Given the description of an element on the screen output the (x, y) to click on. 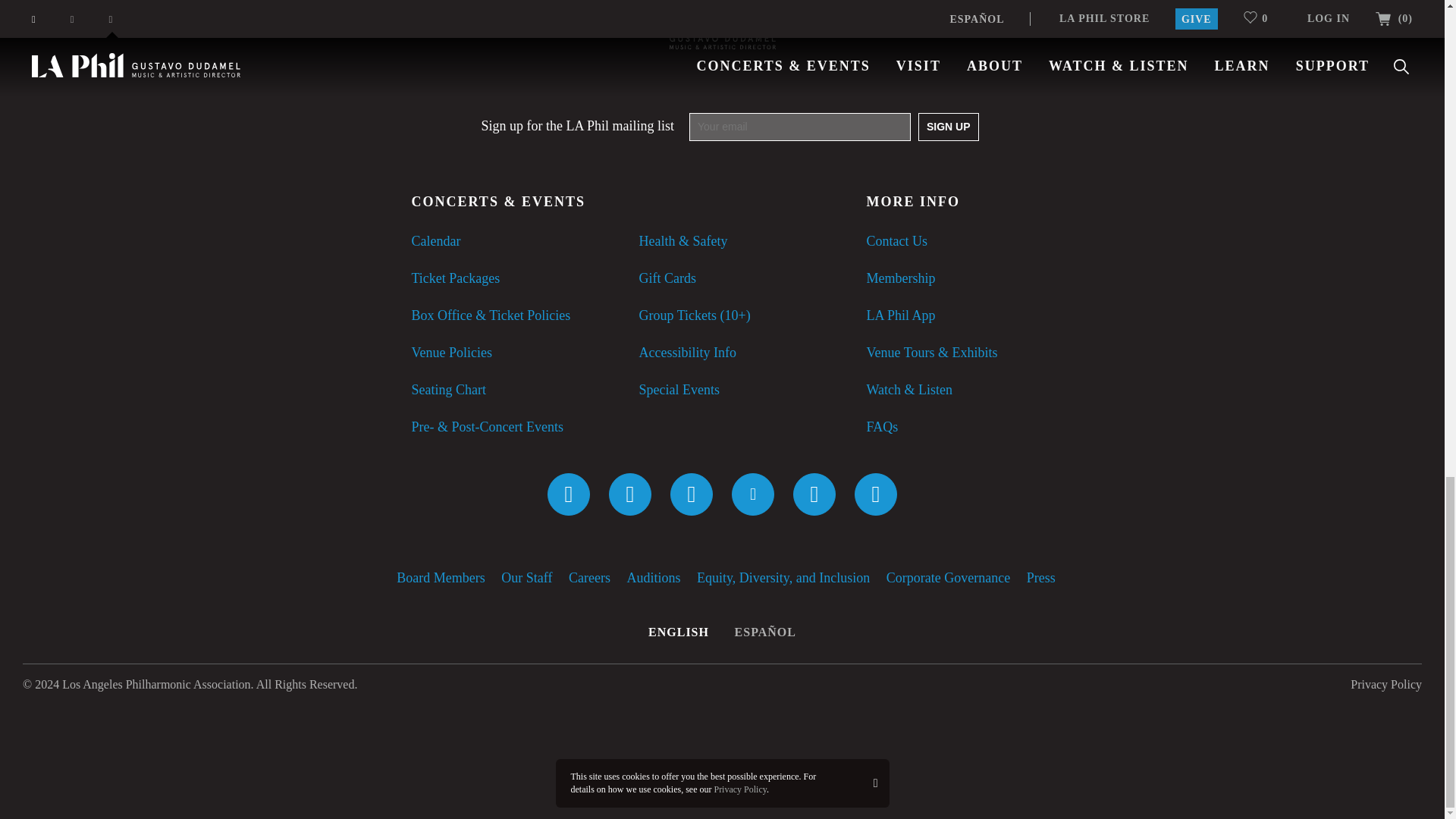
Sign Up (948, 126)
